Given the description of an element on the screen output the (x, y) to click on. 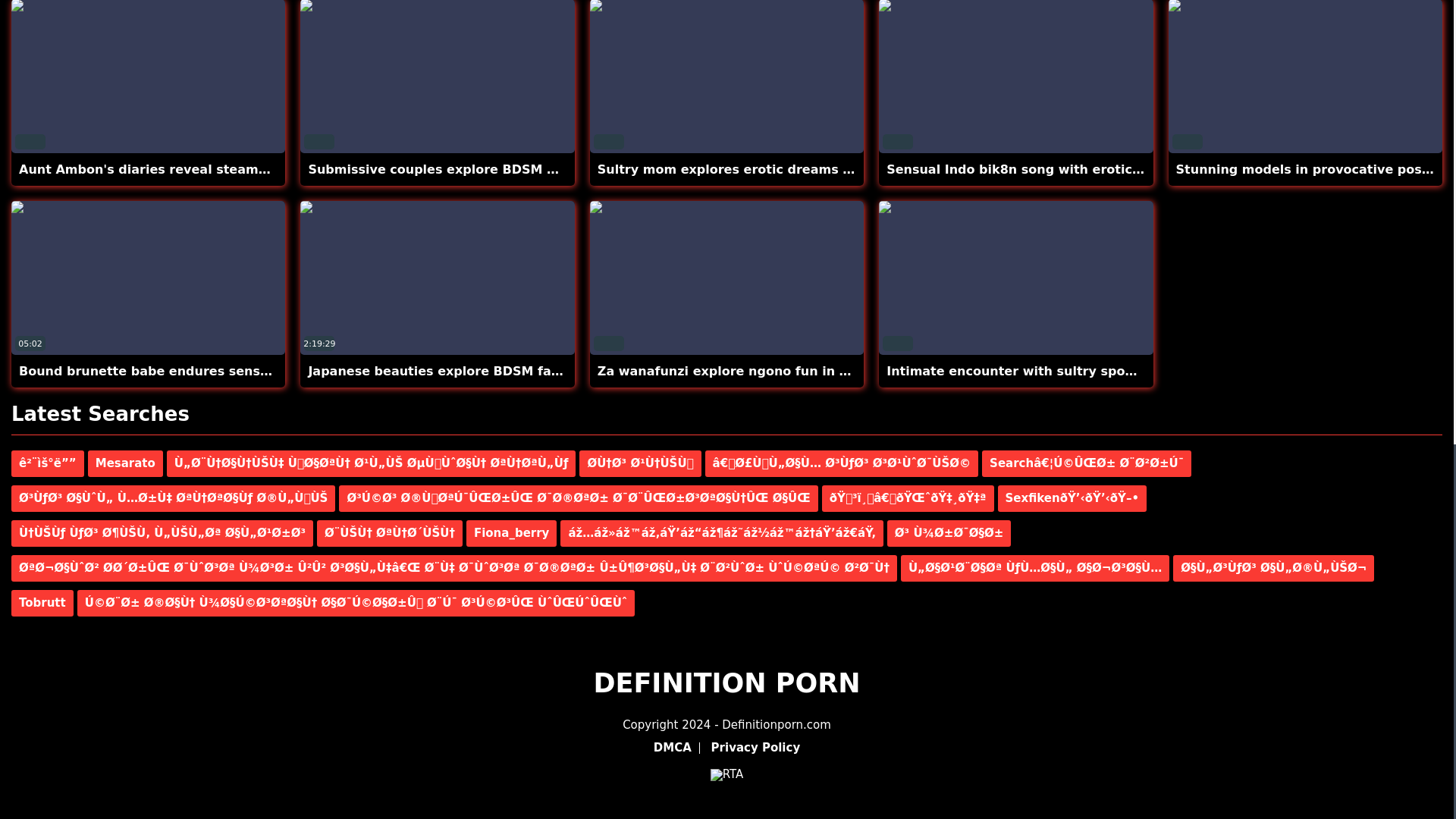
2:19:29 (436, 277)
Japanese beauties explore BDSM fantasies (453, 370)
Sensual Indo bik8n song with erotic overtones. (1047, 169)
Sultry mom explores erotic dreams in sleep. (748, 169)
05:02 (148, 277)
Bound brunette babe endures sensual bondage torture (207, 370)
Submissive couples explore BDSM dynamics (459, 169)
